Given the description of an element on the screen output the (x, y) to click on. 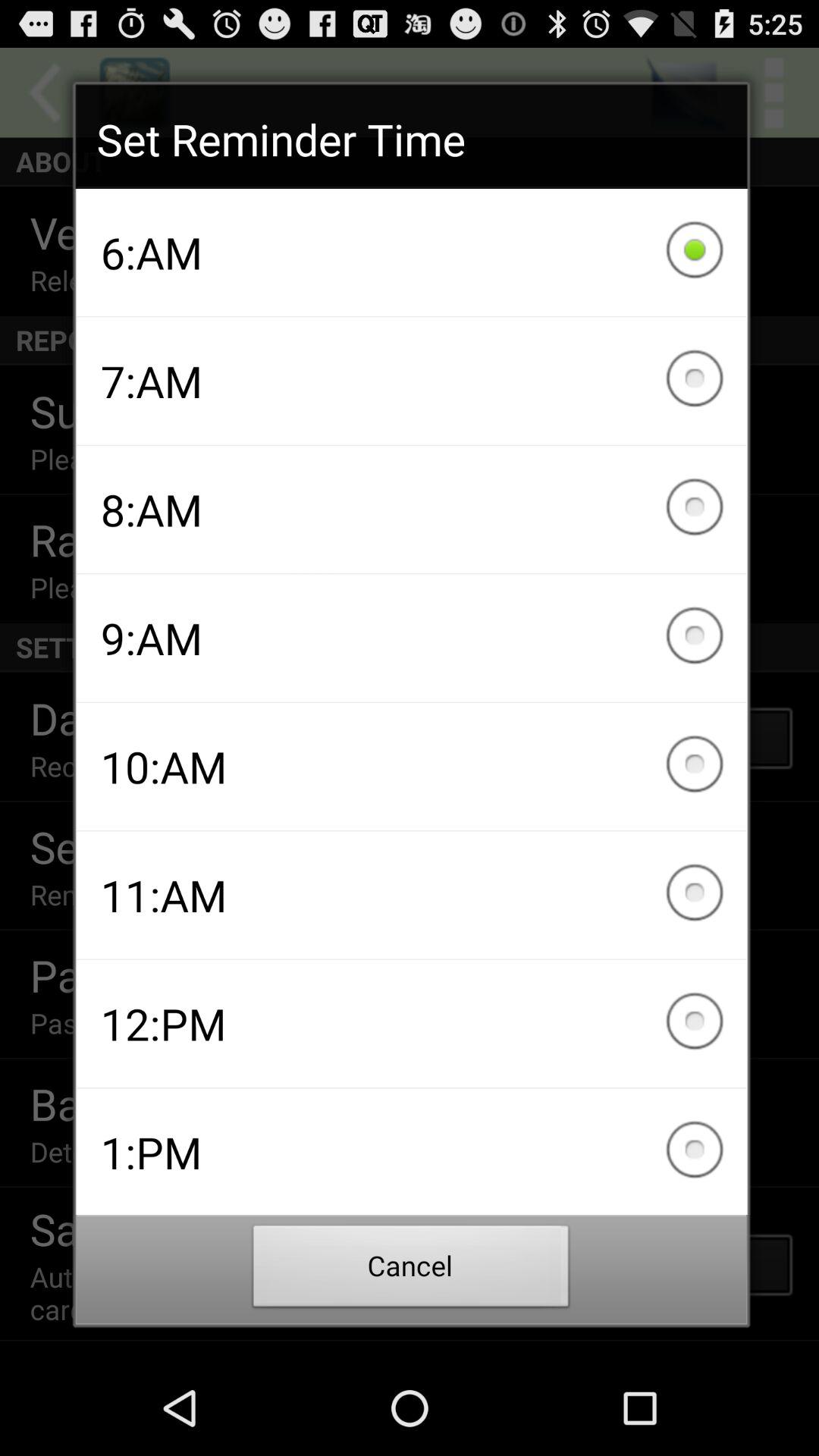
click the cancel button (410, 1270)
